Given the description of an element on the screen output the (x, y) to click on. 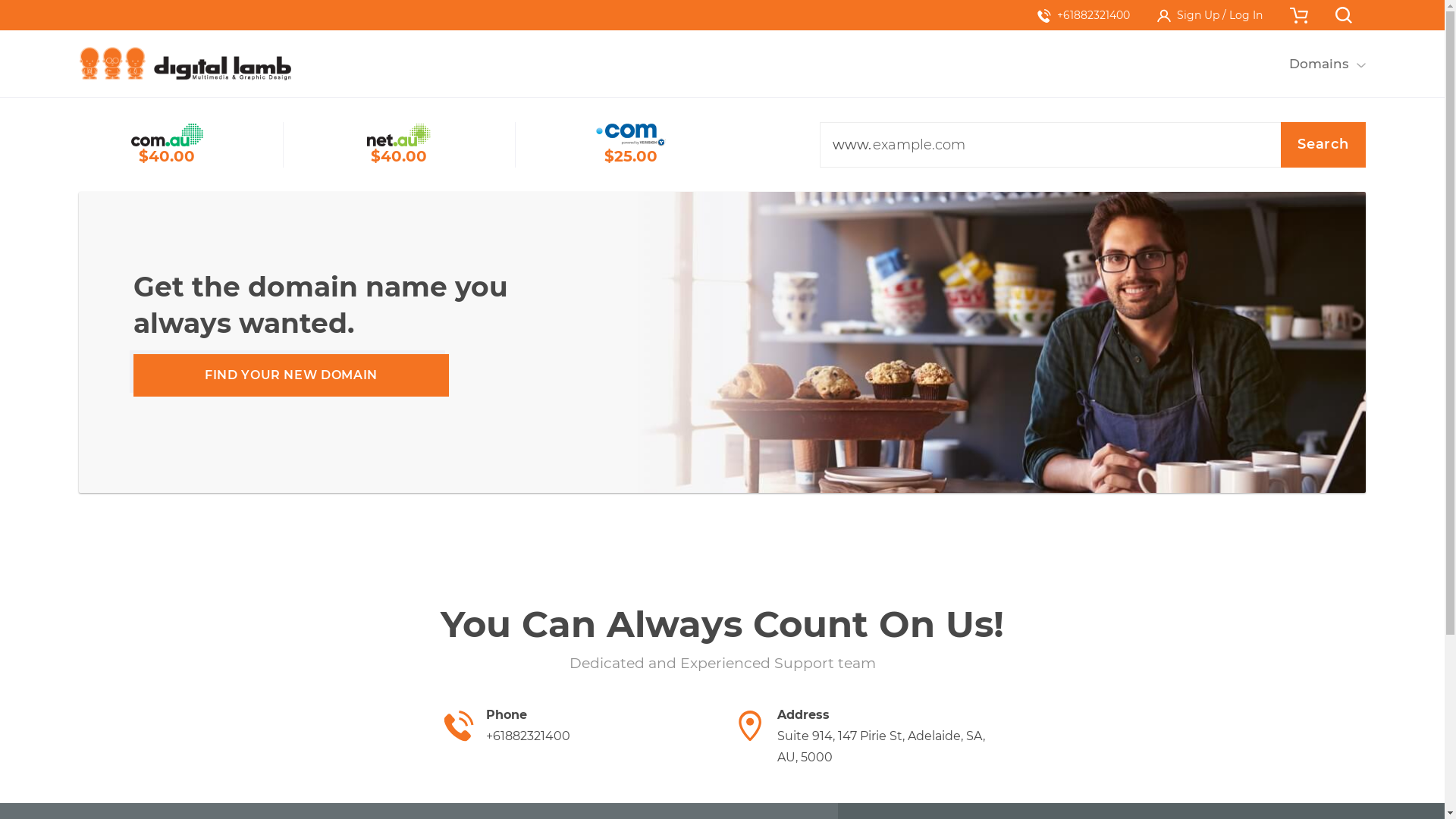
Search Element type: text (1322, 144)
FIND YOUR NEW DOMAIN Element type: text (290, 375)
+61882321400 Element type: text (1083, 15)
Phone
+61882321400 Element type: text (576, 725)
Domains Element type: text (1318, 63)
